Given the description of an element on the screen output the (x, y) to click on. 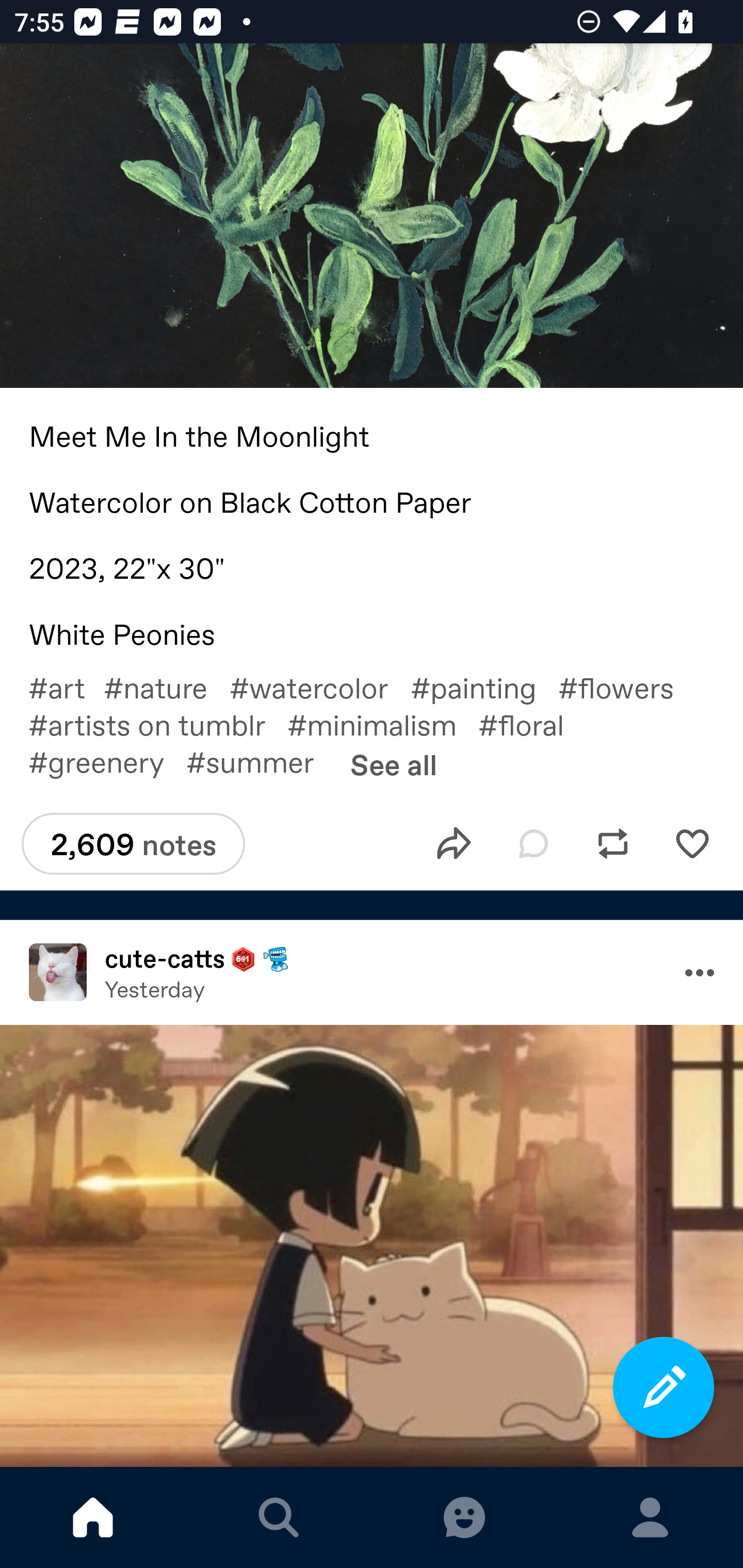
#art (66, 686)
#nature (166, 686)
#watercolor (319, 686)
#painting (483, 686)
#flowers (626, 686)
#artists on tumblr (157, 724)
#minimalism (382, 724)
#floral (532, 724)
#greenery (107, 761)
#summer (260, 761)
See all (393, 764)
Share post to message (454, 843)
Reblog (612, 843)
Like (691, 843)
2,609 notes (133, 843)
Compose a new post (663, 1387)
DASHBOARD (92, 1517)
EXPLORE (278, 1517)
MESSAGES (464, 1517)
ACCOUNT (650, 1517)
